Given the description of an element on the screen output the (x, y) to click on. 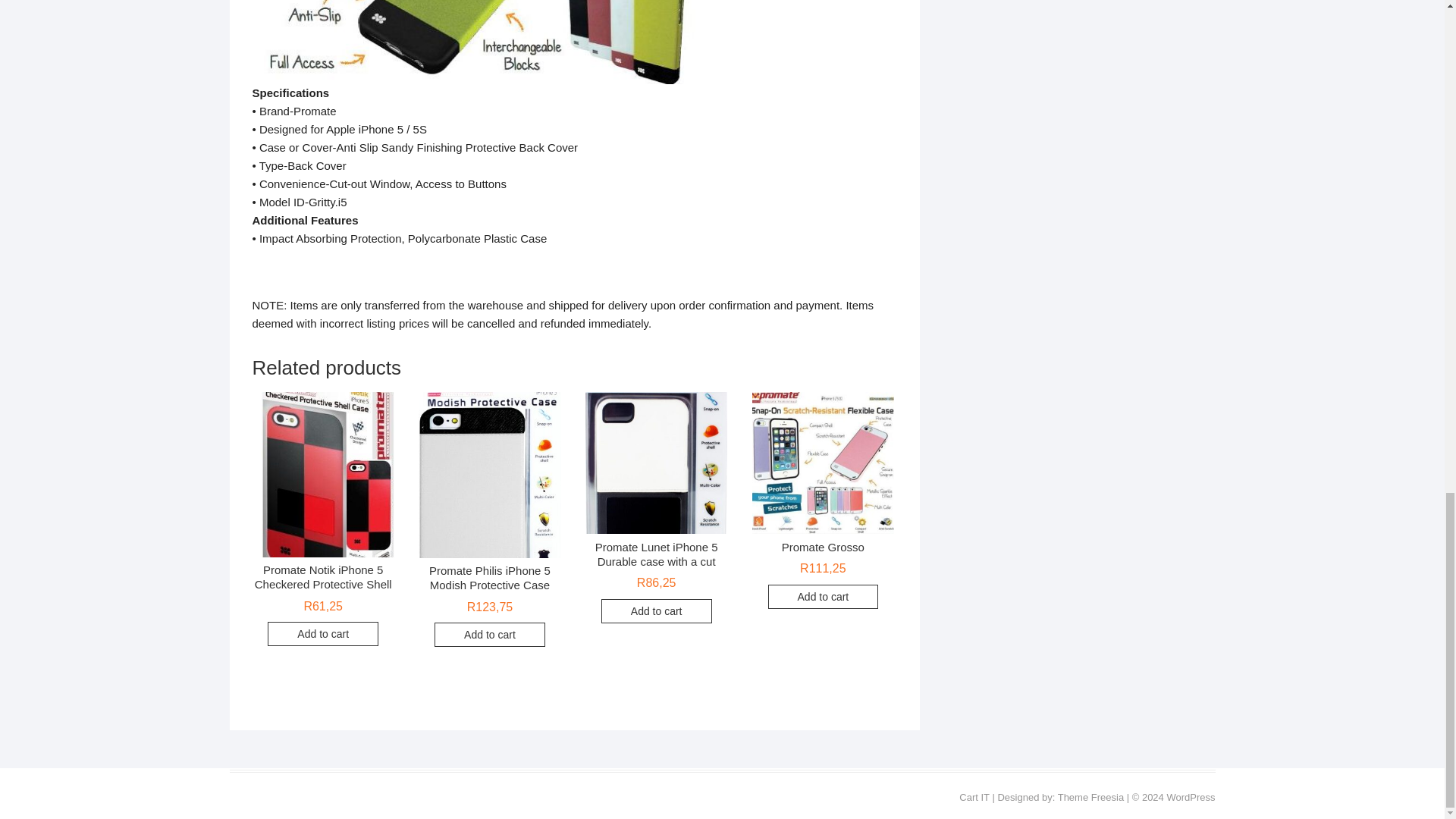
WordPress (1190, 797)
Add to cart (322, 633)
Cart IT (974, 797)
Add to cart (823, 596)
Add to cart (488, 634)
Theme Freesia (1091, 797)
Theme Freesia (1091, 797)
WordPress (1190, 797)
Cart IT (974, 797)
Add to cart (656, 610)
